Given the description of an element on the screen output the (x, y) to click on. 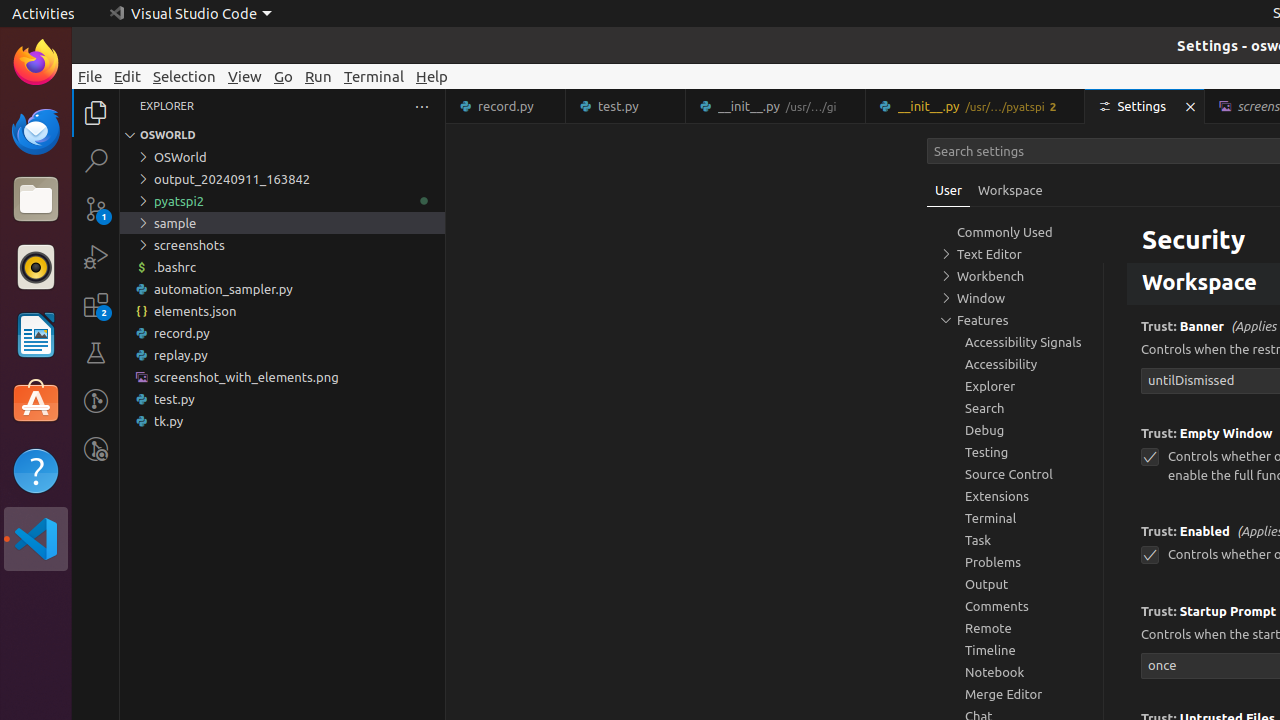
Comments, group Element type: tree-item (1015, 606)
Features, group Element type: tree-item (1015, 320)
Timeline, group Element type: tree-item (1015, 650)
Selection Element type: push-button (184, 76)
